Given the description of an element on the screen output the (x, y) to click on. 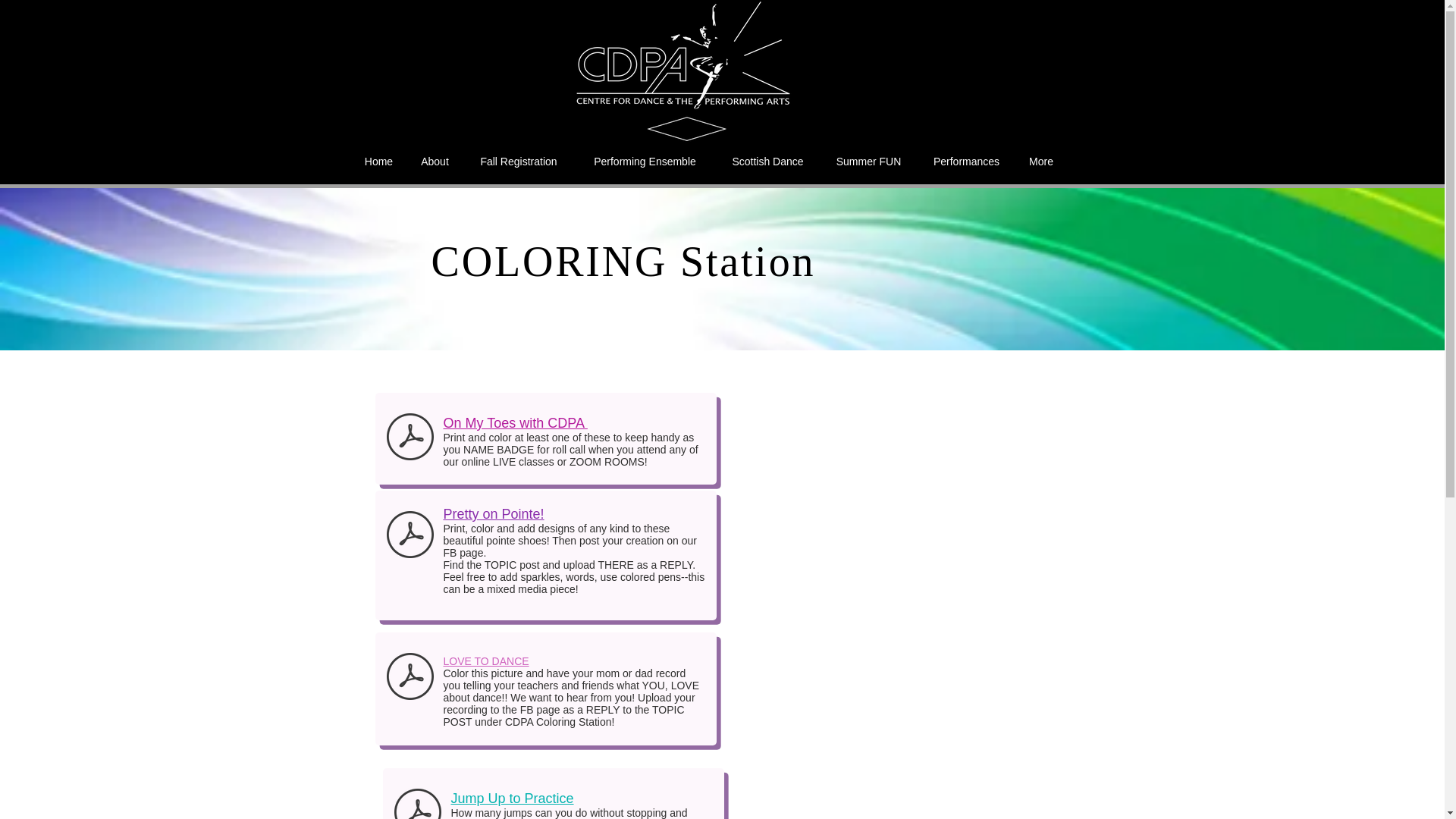
Pretty on Pointe! (492, 513)
LOVE TO DANCE (485, 661)
I CAN DANCE SUMMER COLOR.pdf (408, 677)
on my toes with CDPA.pdf (408, 437)
Performances (966, 161)
On My Toes with CDPA  (514, 422)
Jump Up to Practice (511, 798)
Home (378, 161)
Pretty on Pointe.pdf (408, 535)
Summer FUN (869, 161)
About (434, 161)
Scottish Dance (768, 161)
jump up.pdf (417, 801)
Fall Registration (518, 161)
Performing Ensemble (645, 161)
